Given the description of an element on the screen output the (x, y) to click on. 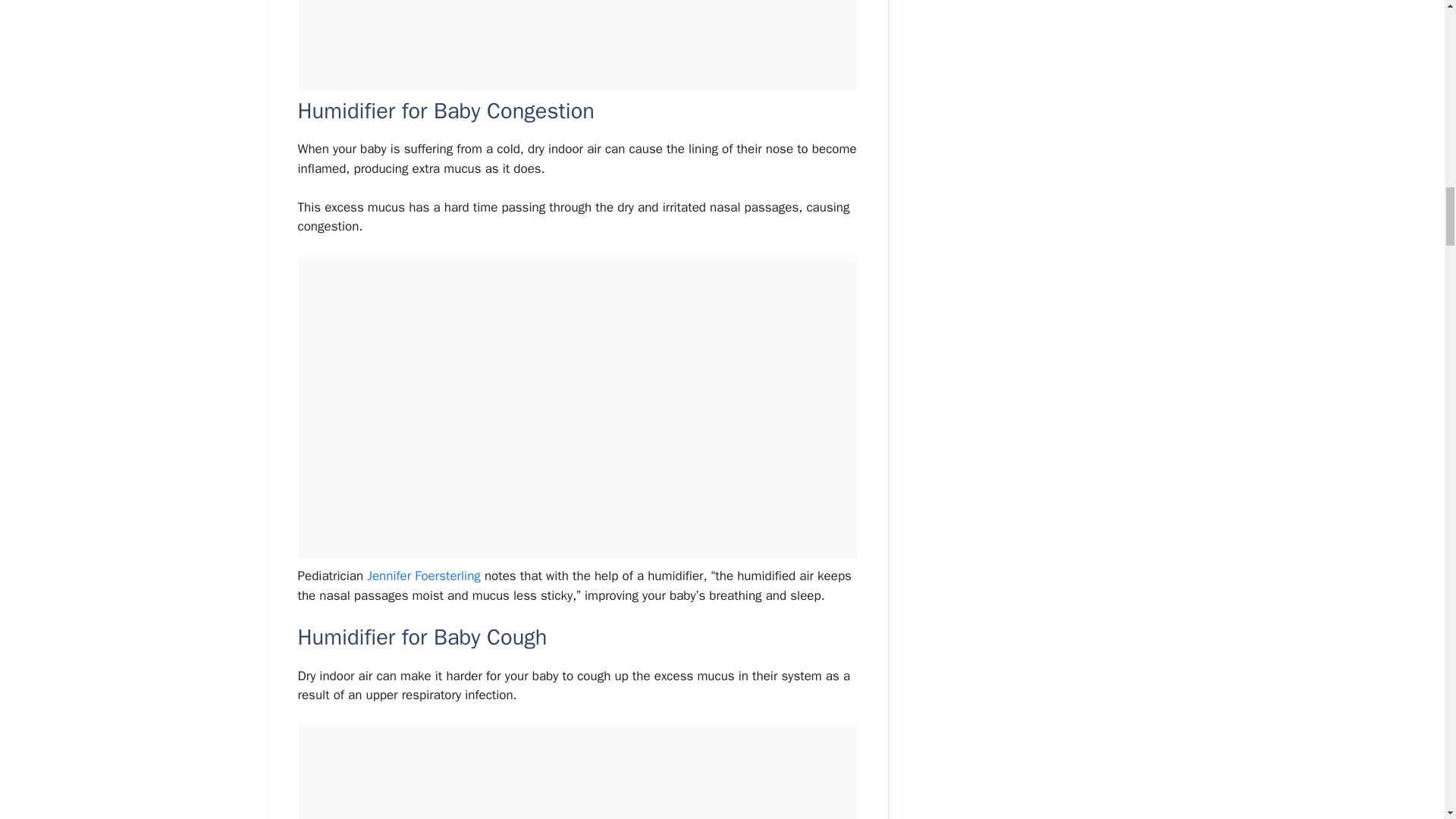
Jennifer Foersterling (423, 575)
